Given the description of an element on the screen output the (x, y) to click on. 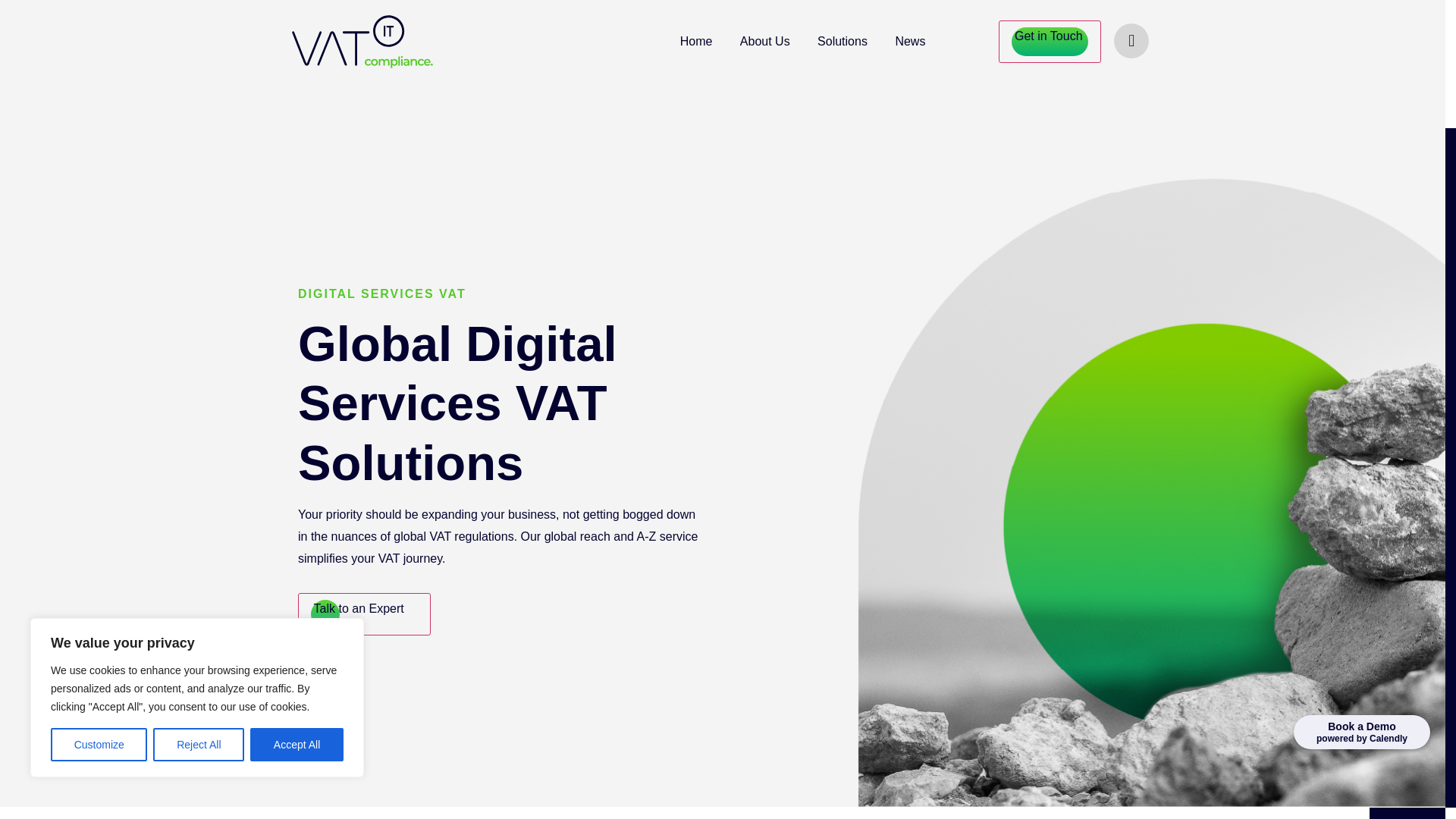
Talk to an Expert (364, 613)
Accept All (296, 744)
About Us (764, 41)
News (909, 41)
Customize (98, 744)
Reject All (198, 744)
Solutions (841, 41)
Home (696, 41)
Get in Touch (1049, 41)
